Given the description of an element on the screen output the (x, y) to click on. 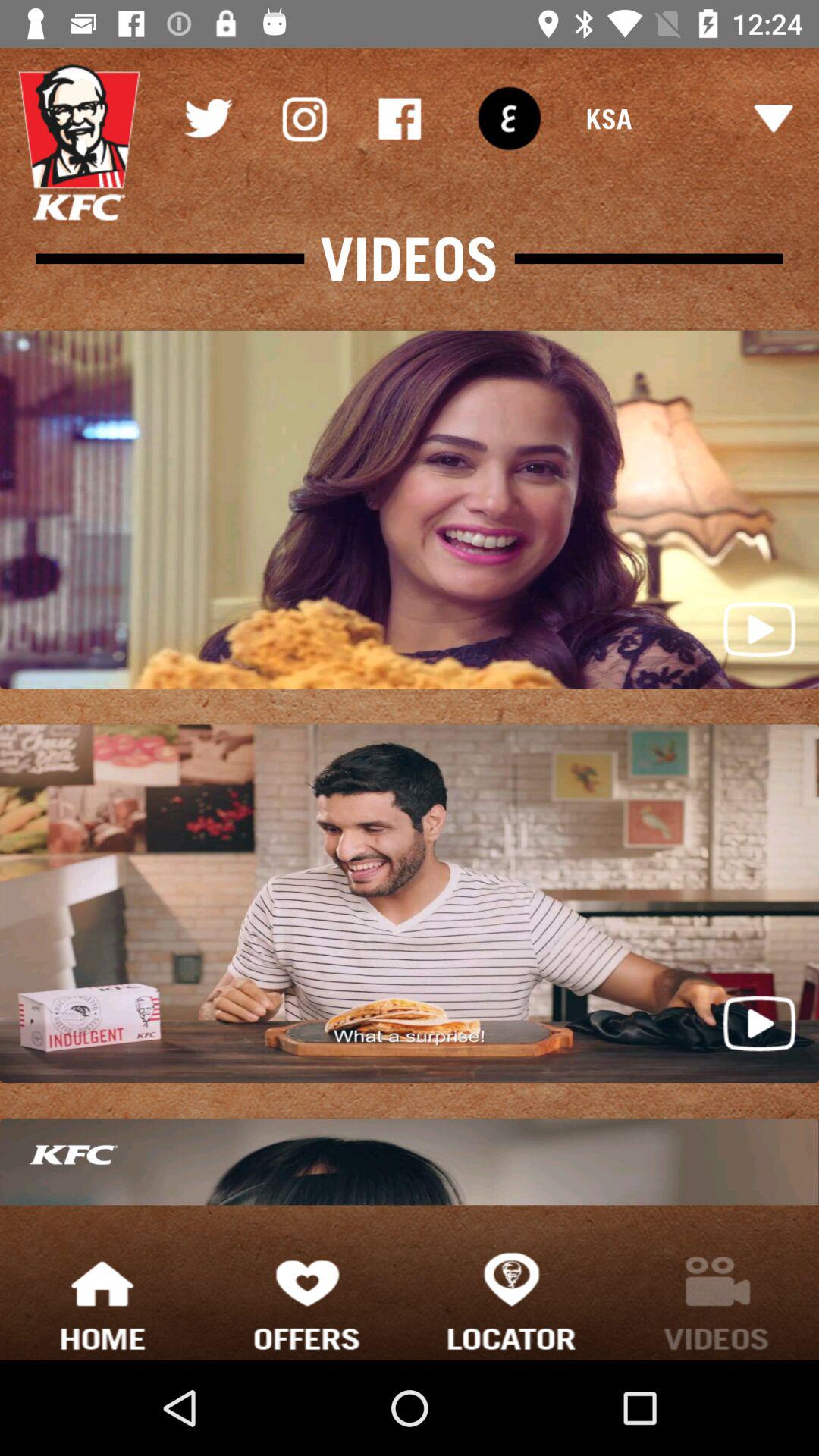
turn on the item above videos (509, 118)
